Given the description of an element on the screen output the (x, y) to click on. 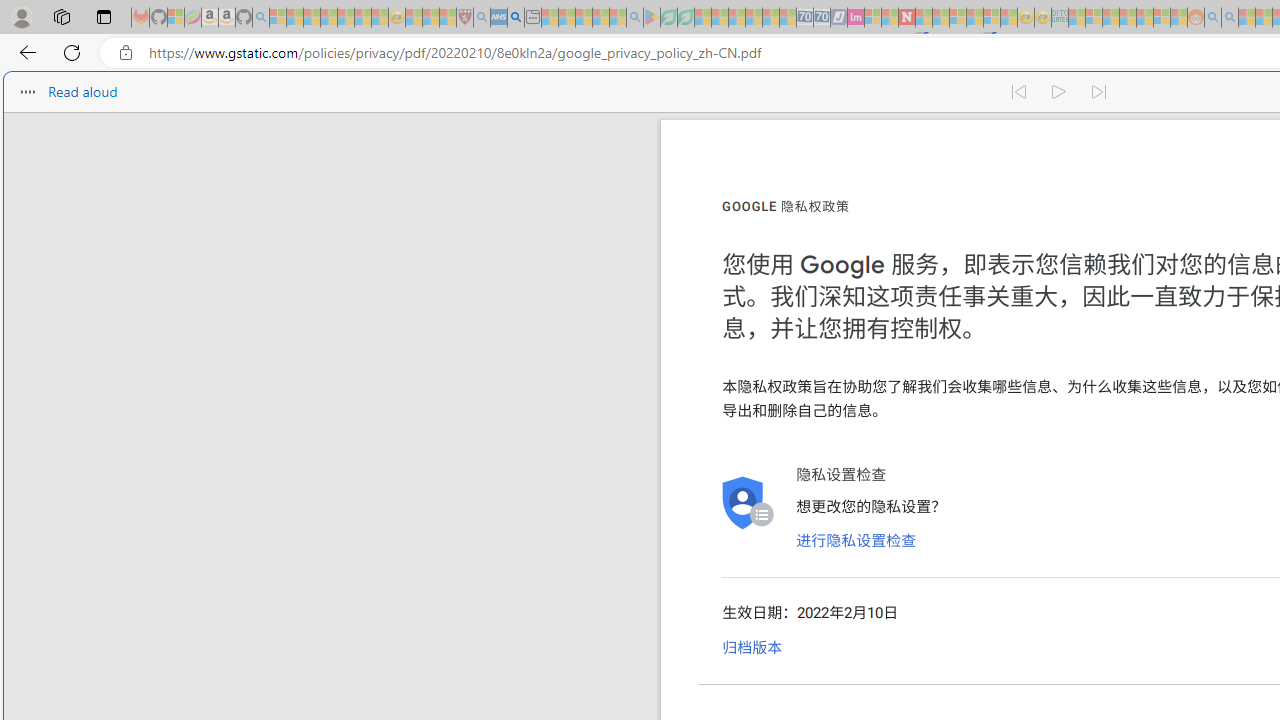
utah sues federal government - Search (515, 17)
